Given the description of an element on the screen output the (x, y) to click on. 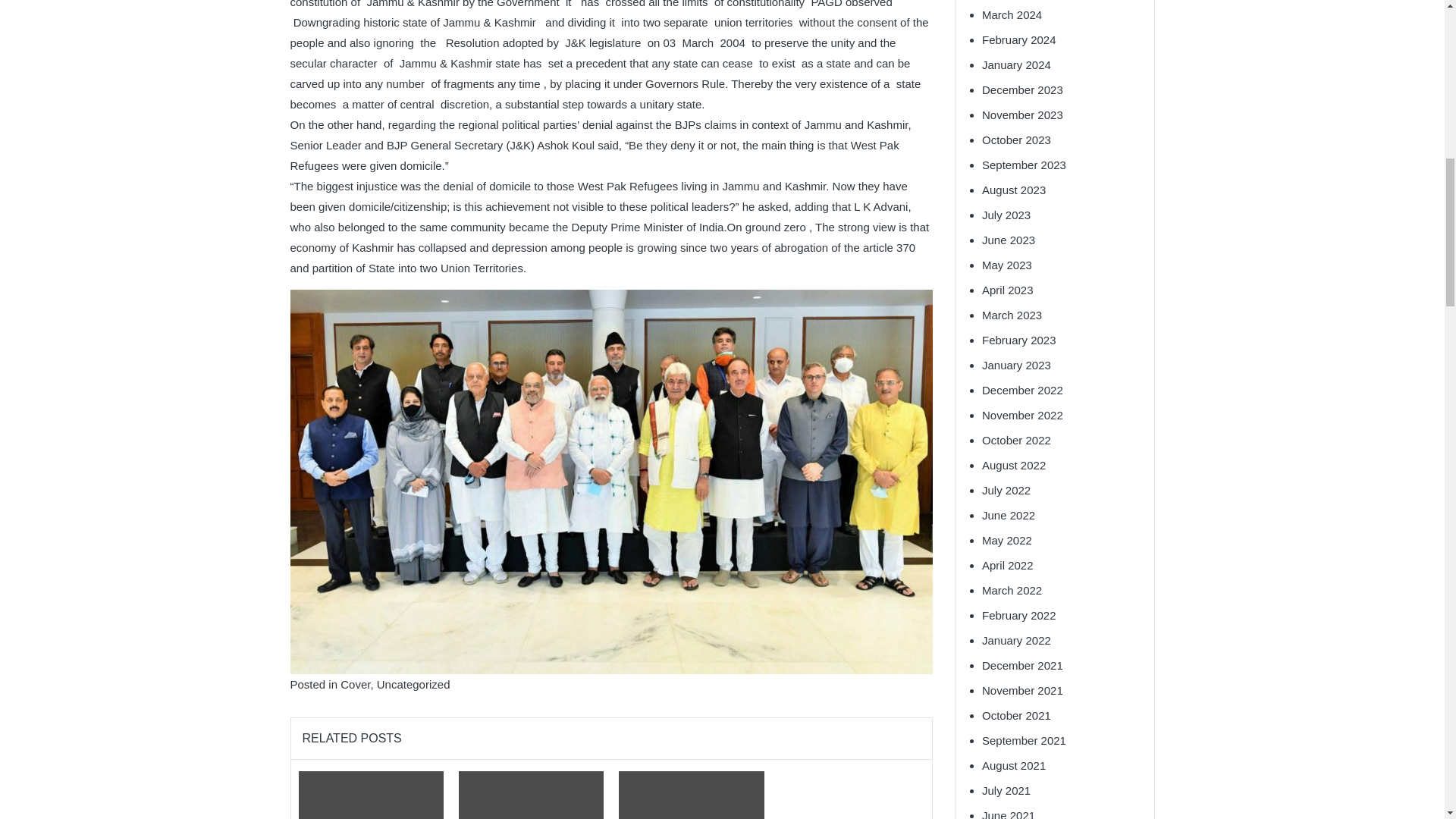
Cover (354, 684)
Uncategorized (413, 684)
